Given the description of an element on the screen output the (x, y) to click on. 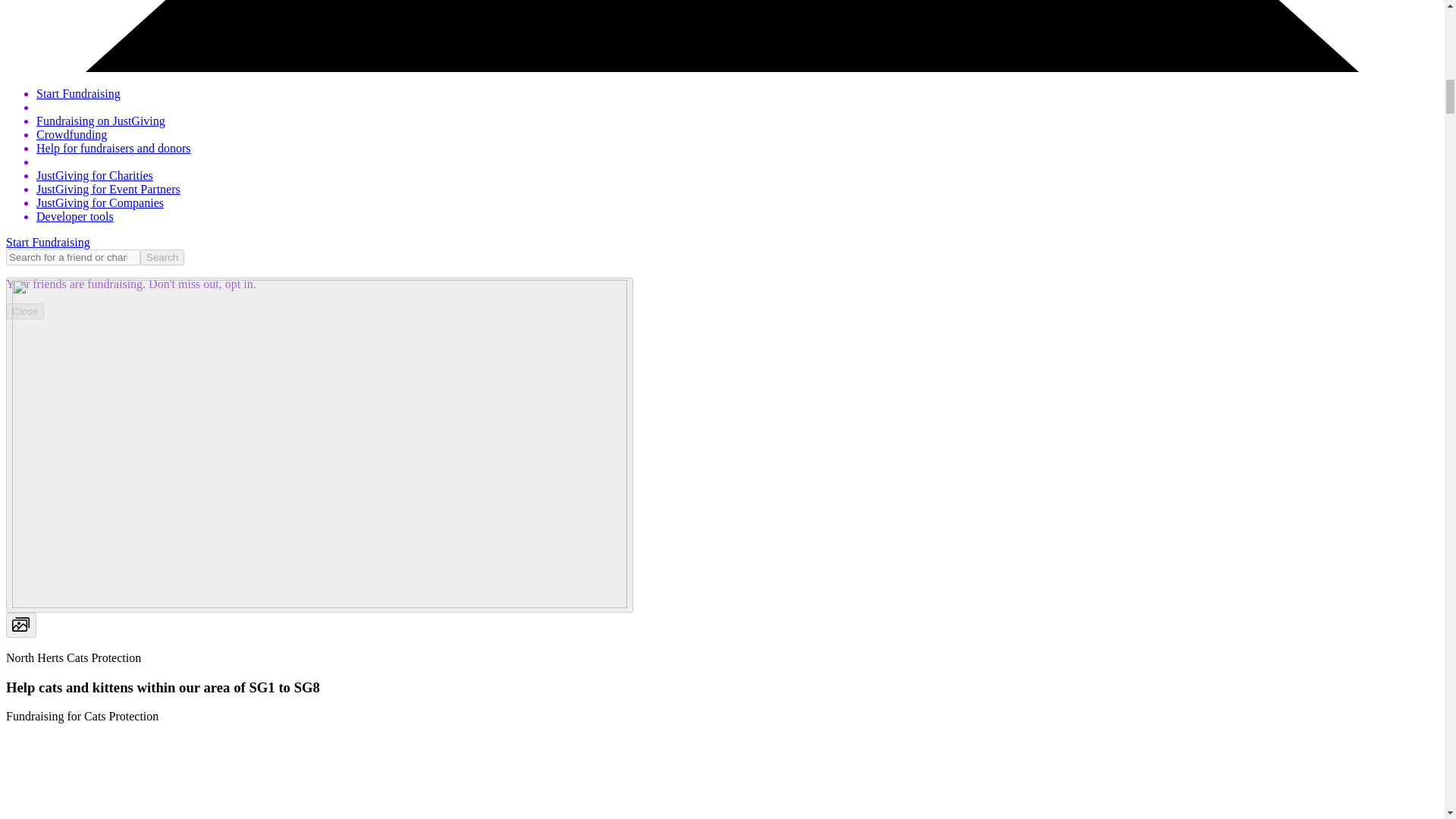
Crowdfunding (71, 133)
JustGiving for Event Partners (108, 188)
Start Fundraising (47, 241)
Start Fundraising (78, 92)
Search (161, 257)
Search (161, 257)
Close (24, 311)
Help for fundraisers and donors (113, 147)
opt in. (239, 283)
Search (161, 257)
